Given the description of an element on the screen output the (x, y) to click on. 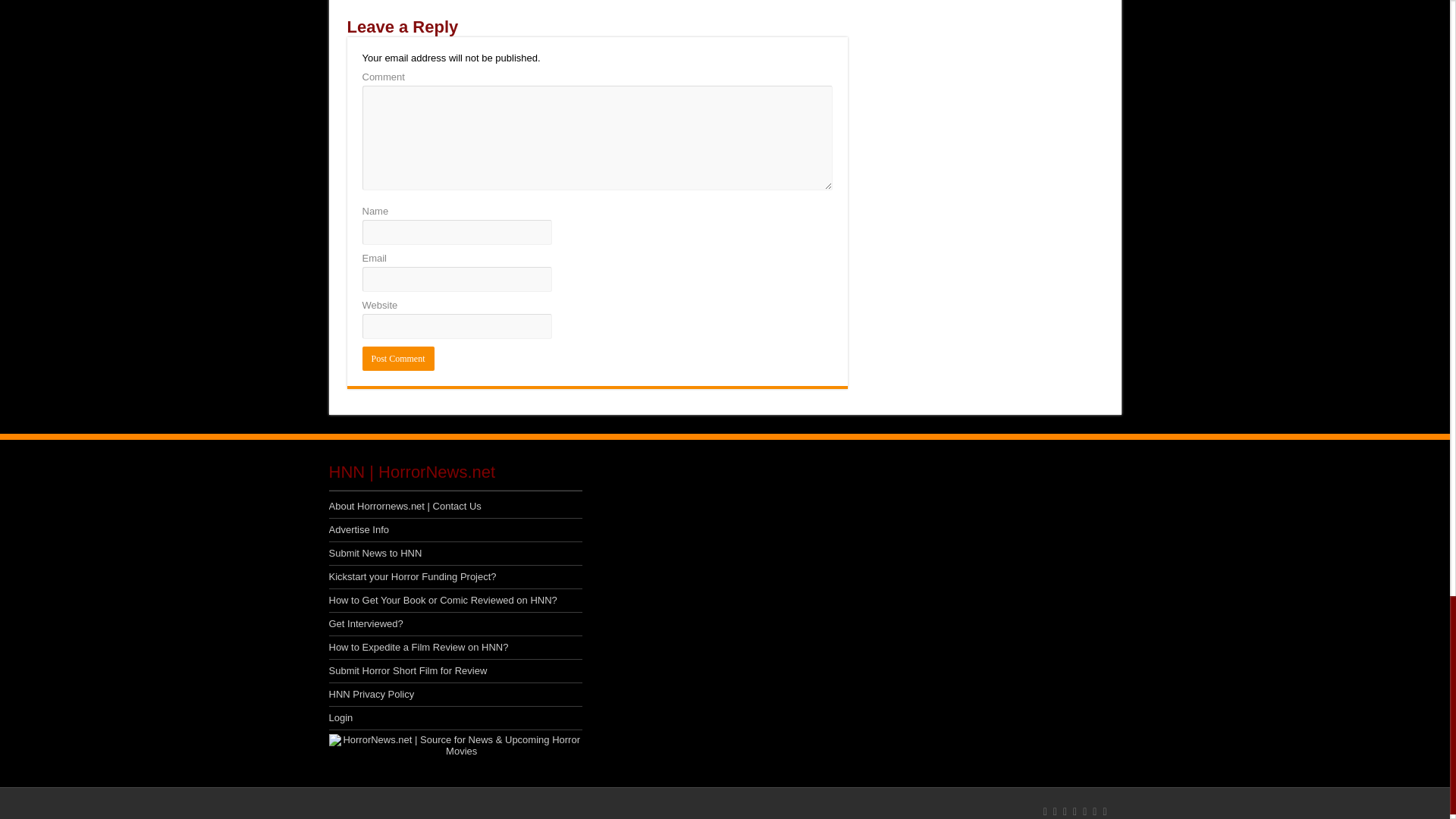
Post Comment (397, 358)
